Given the description of an element on the screen output the (x, y) to click on. 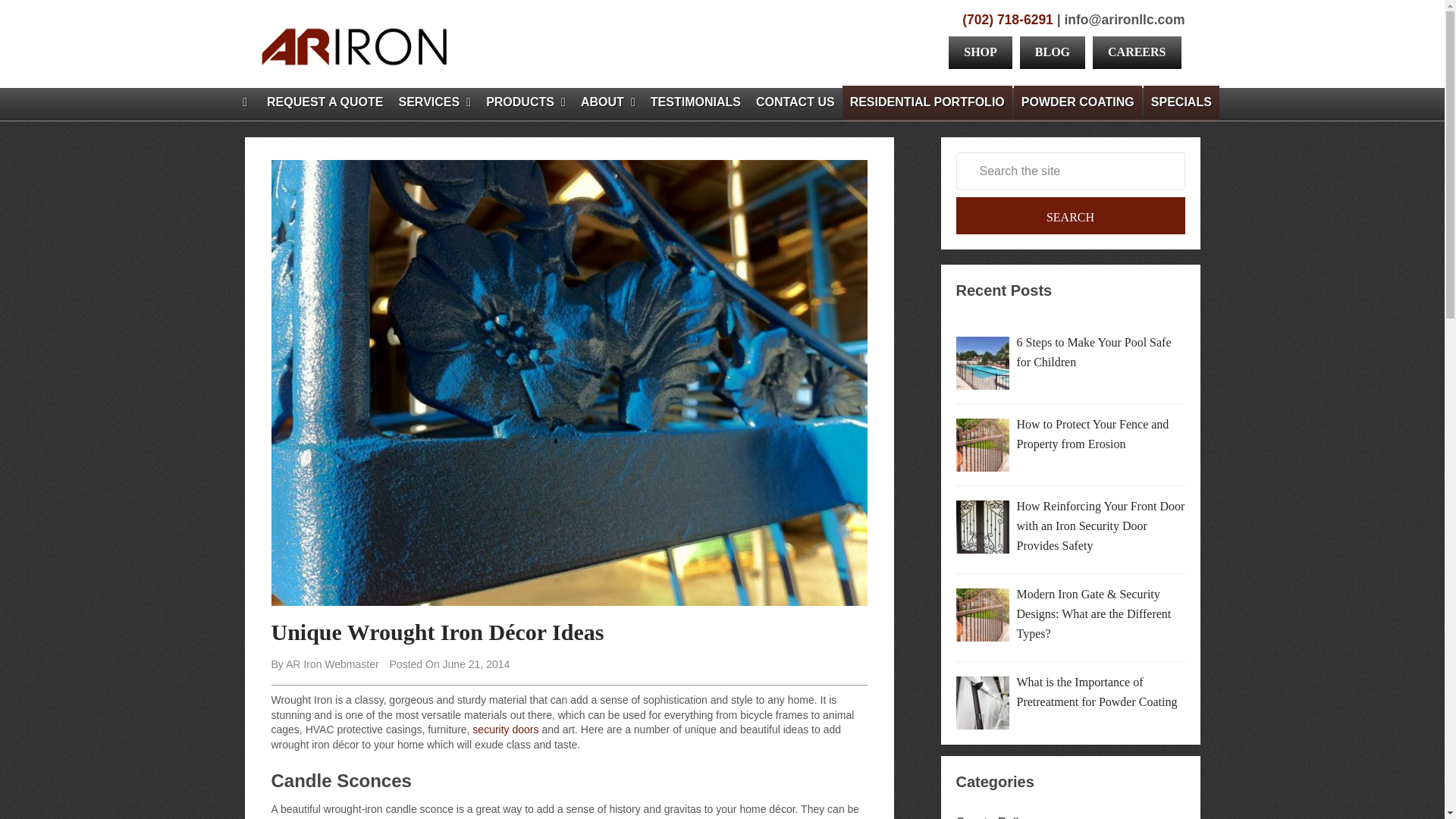
AR Iron Webmaster (331, 664)
SERVICES (435, 101)
PRODUCTS (526, 101)
SHOP (980, 51)
TESTIMONIALS (695, 101)
CAREERS (1137, 51)
security doors (504, 729)
ABOUT (608, 101)
BLOG (1052, 51)
REQUEST A QUOTE (325, 101)
POWDER COATING (1077, 101)
SPECIALS (1181, 101)
Search (1070, 215)
CONTACT US (795, 101)
Posts by AR Iron Webmaster (331, 664)
